Given the description of an element on the screen output the (x, y) to click on. 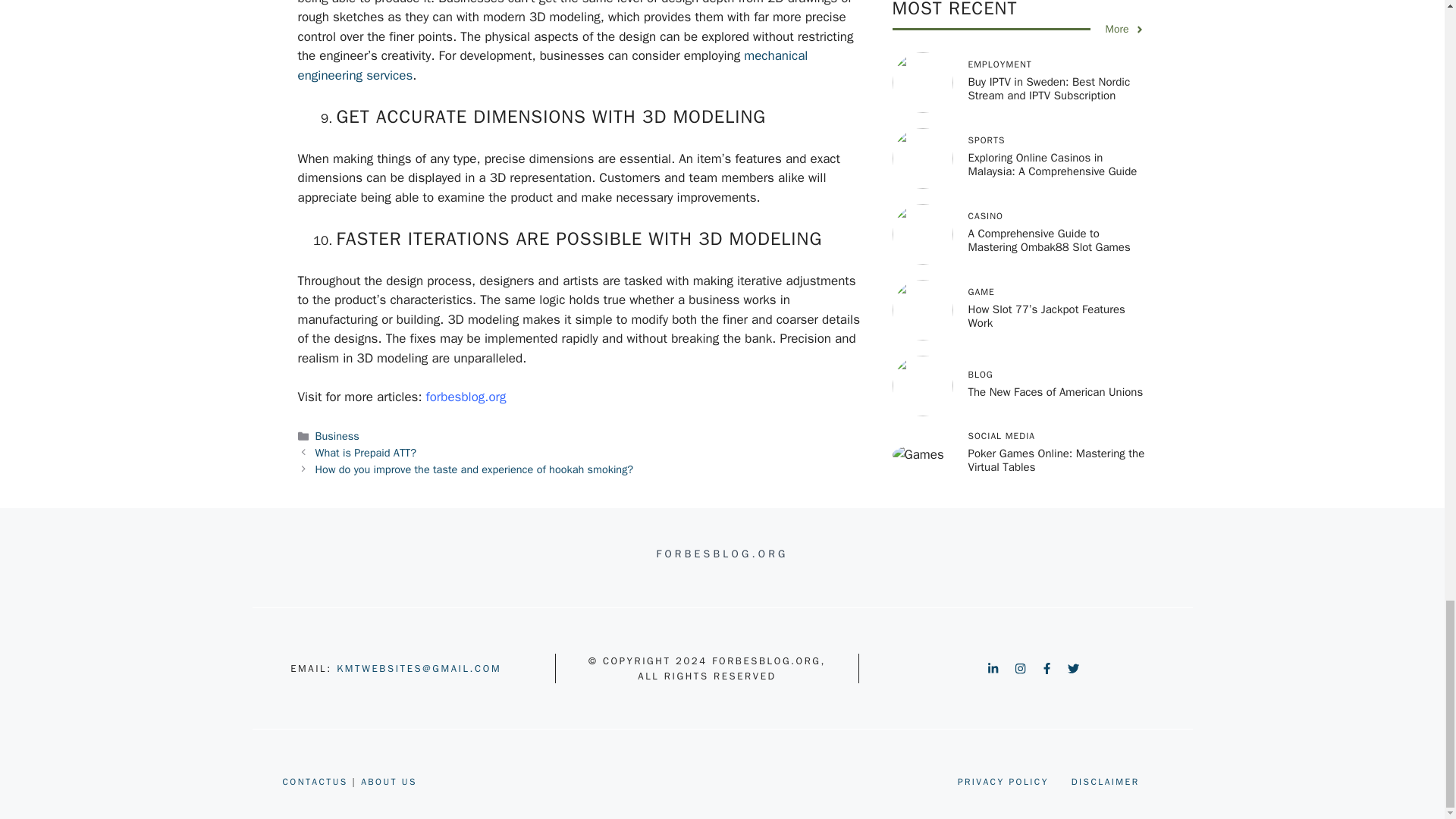
mechanical engineering services (552, 65)
forbesblog.org (466, 396)
What is Prepaid ATT? (365, 452)
Business (337, 436)
